Given the description of an element on the screen output the (x, y) to click on. 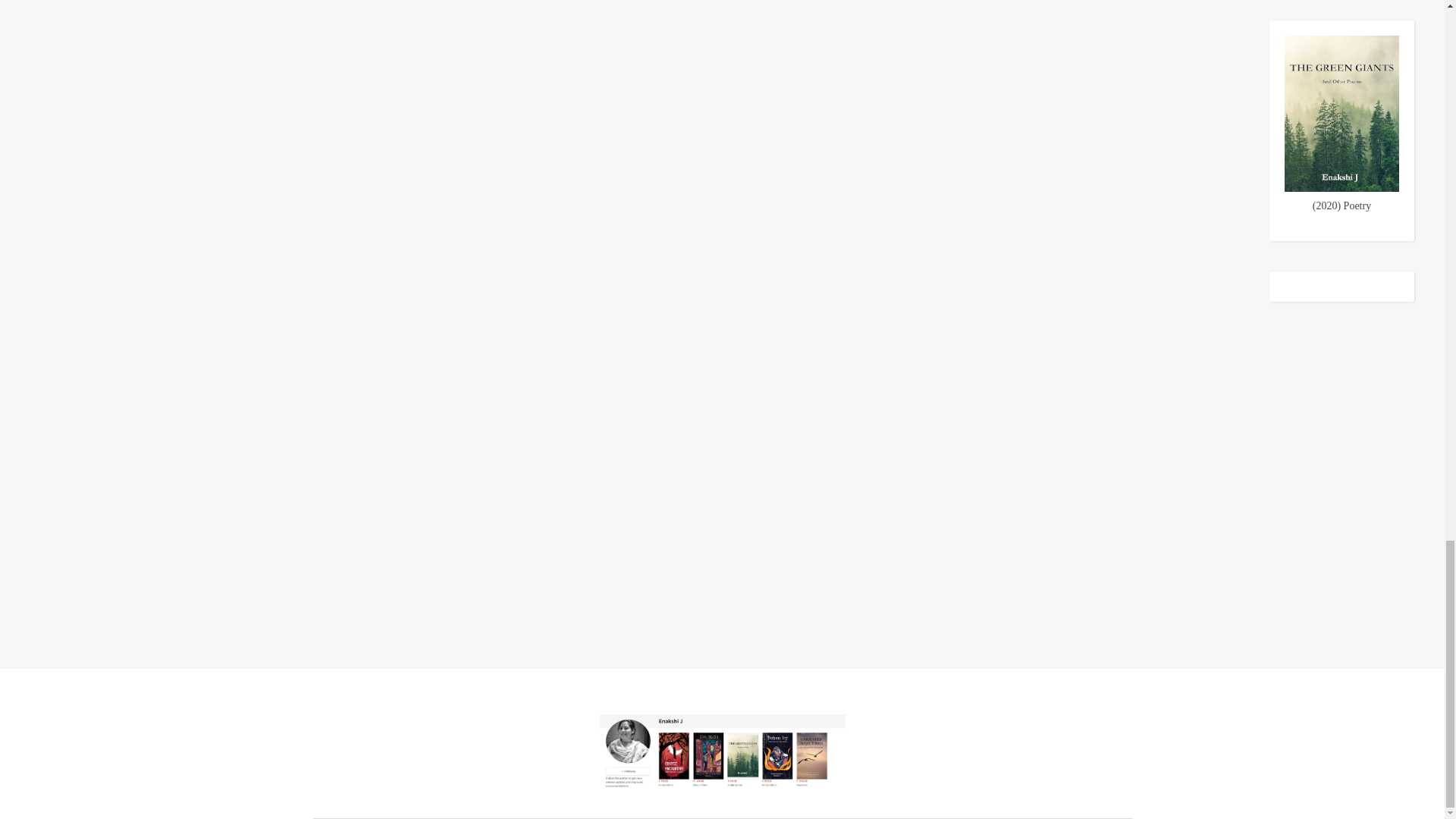
Advertisement (721, 407)
